Given the description of an element on the screen output the (x, y) to click on. 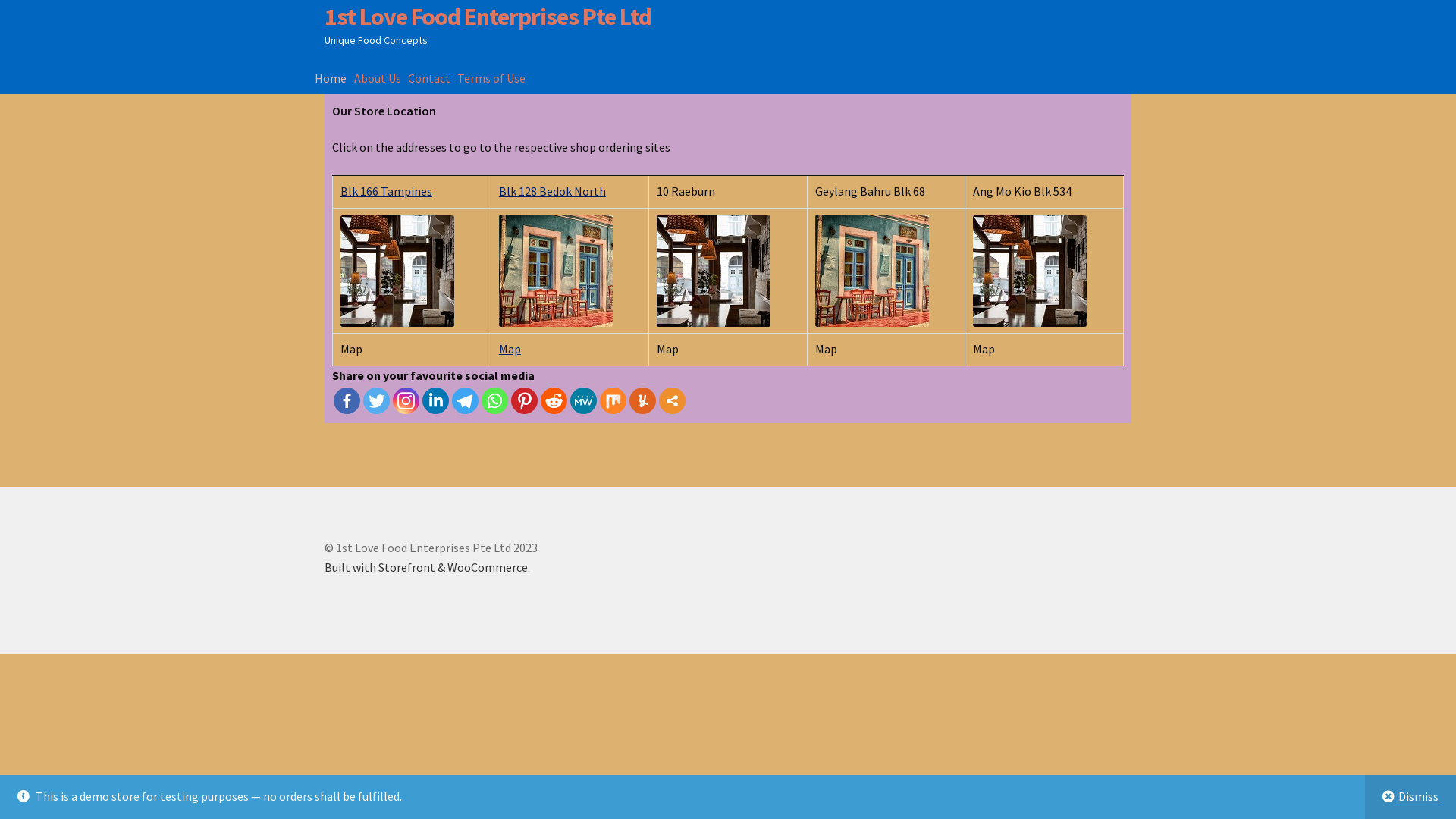
More Element type: hover (671, 400)
Map Element type: text (509, 348)
Reddit Element type: hover (553, 400)
Whatsapp Element type: hover (494, 400)
Terms of Use Element type: text (491, 77)
Twitter Element type: hover (376, 400)
Mix Element type: hover (612, 400)
Blk 128 Bedok North Element type: text (551, 190)
MeWe Element type: hover (583, 400)
Blk 166 Tampines Element type: text (386, 190)
About Us Element type: text (376, 77)
Instagram Element type: hover (405, 400)
Telegram Element type: hover (464, 400)
Home Element type: text (330, 77)
Built with Storefront & WooCommerce Element type: text (425, 566)
Yummly Element type: hover (642, 400)
Pinterest Element type: hover (524, 400)
Linkedin Element type: hover (435, 400)
Facebook Element type: hover (346, 400)
Contact Element type: text (428, 77)
1st Love Food Enterprises Pte Ltd Element type: text (487, 16)
Skip to navigation Element type: text (323, 1)
